Given the description of an element on the screen output the (x, y) to click on. 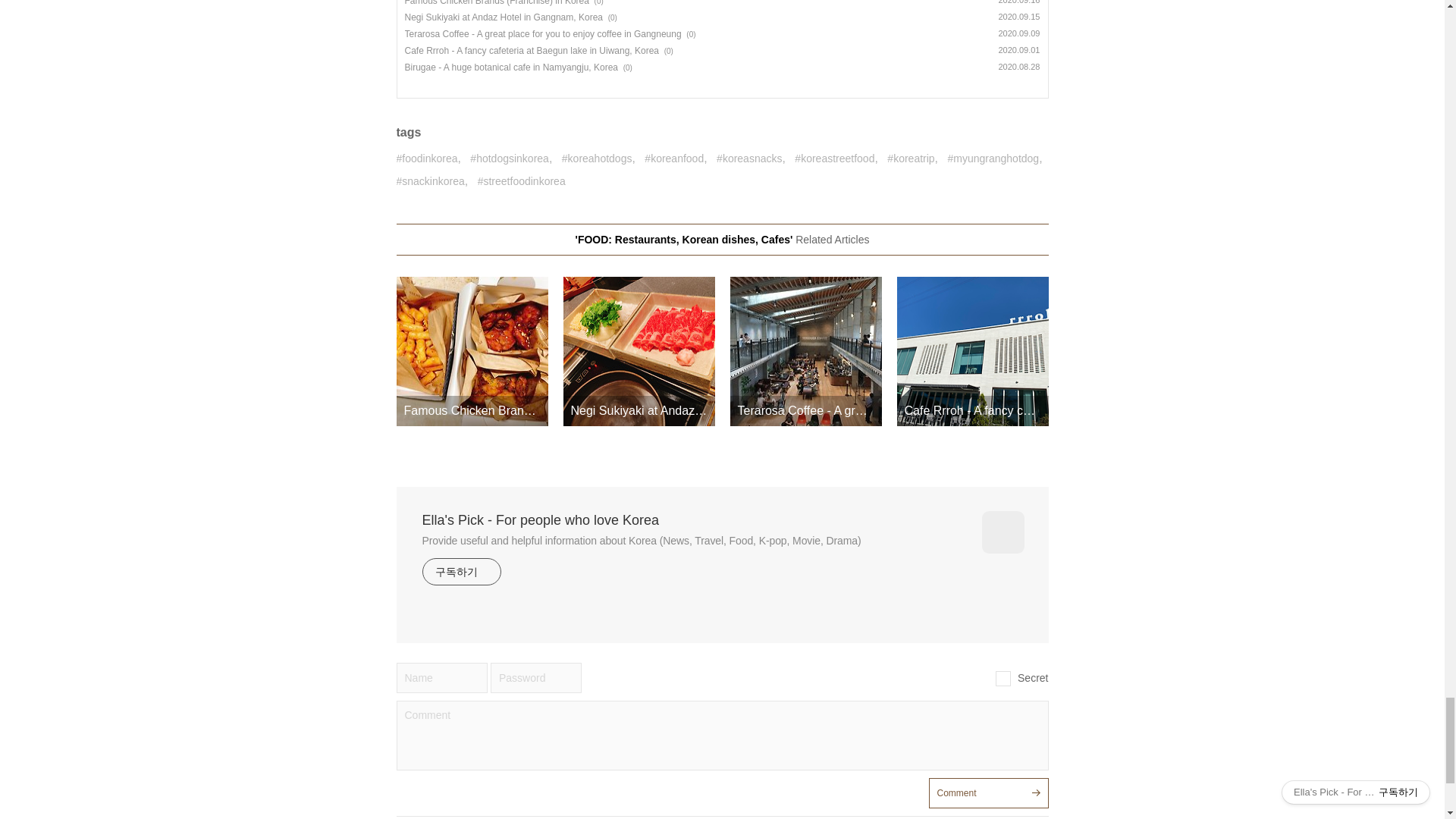
myungranghotdog (993, 159)
koreanfood (674, 159)
hotdogsinkorea (509, 159)
streetfoodinkorea (521, 181)
Negi Sukiyaki at Andaz Hotel in Gangnam, Korea (503, 17)
koreasnacks (748, 159)
snackinkorea (430, 181)
Birugae - A huge botanical cafe in Namyangju, Korea (511, 67)
foodinkorea (426, 159)
koreastreetfood (834, 159)
koreahotdogs (596, 159)
koreatrip (910, 159)
